Given the description of an element on the screen output the (x, y) to click on. 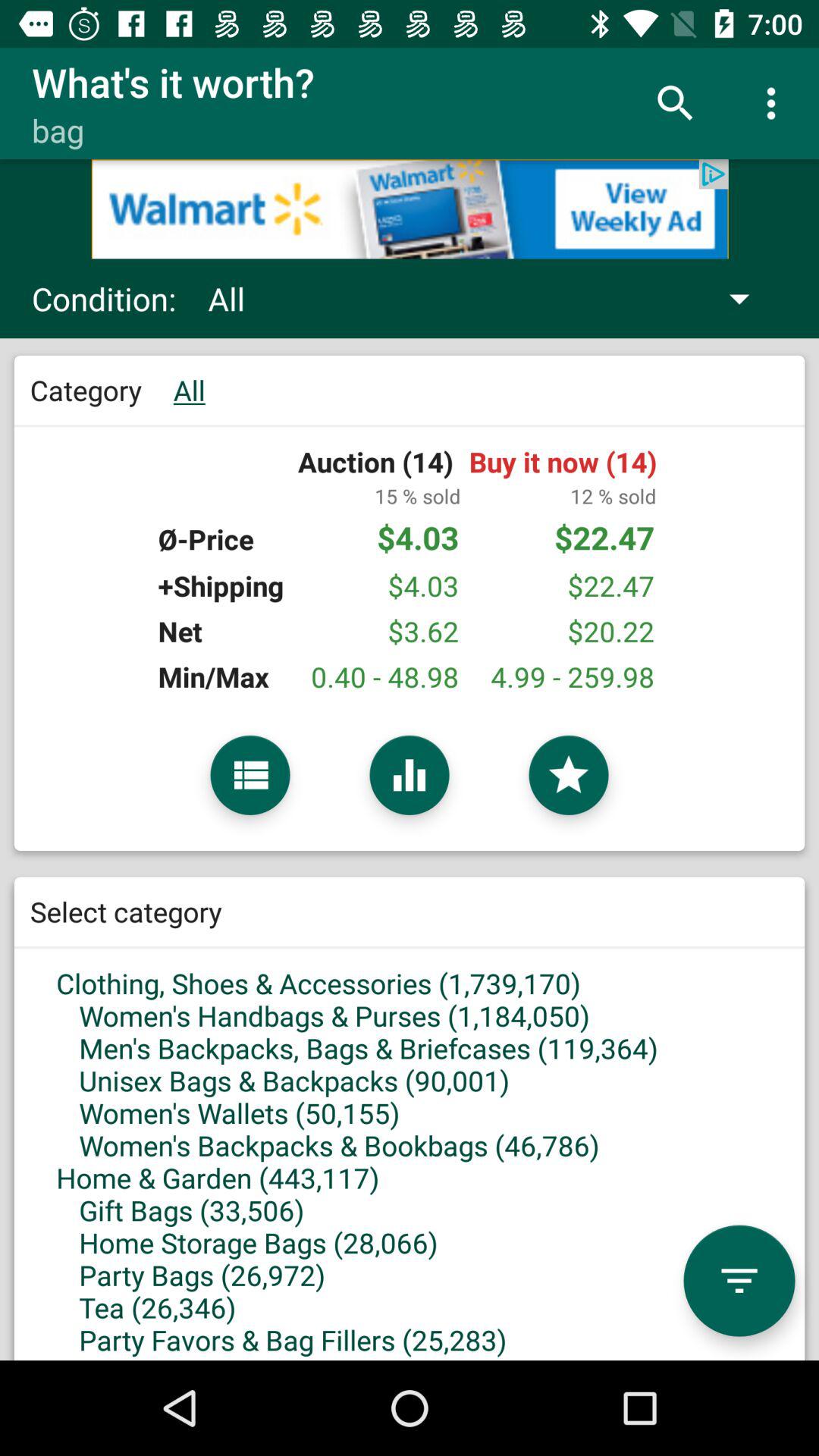
favorite selection (568, 774)
